Given the description of an element on the screen output the (x, y) to click on. 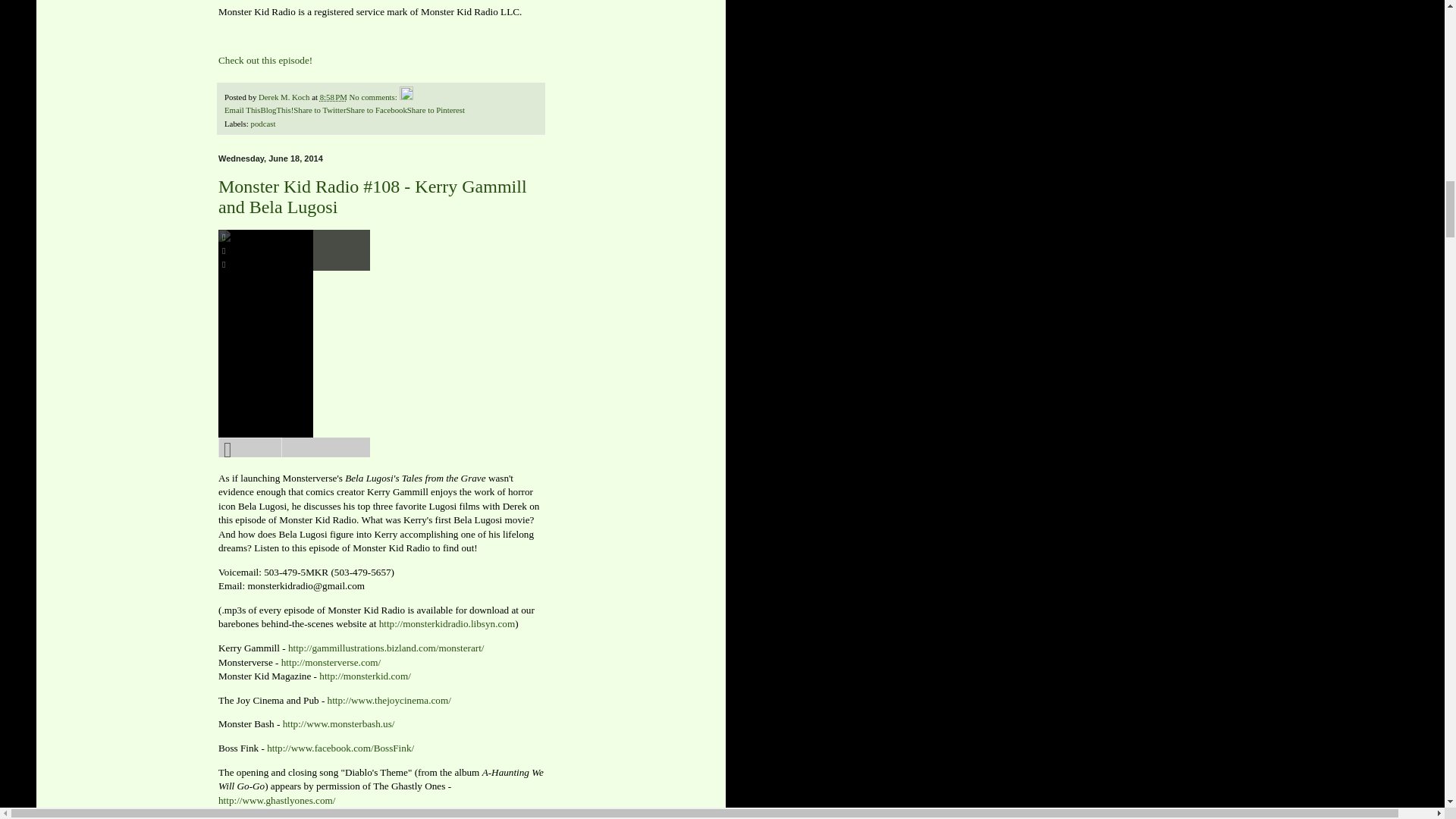
BlogThis! (277, 109)
Edit Post (405, 96)
Share to Twitter (320, 109)
Share to Facebook (376, 109)
Email This (242, 109)
permanent link (333, 96)
author profile (285, 96)
